Given the description of an element on the screen output the (x, y) to click on. 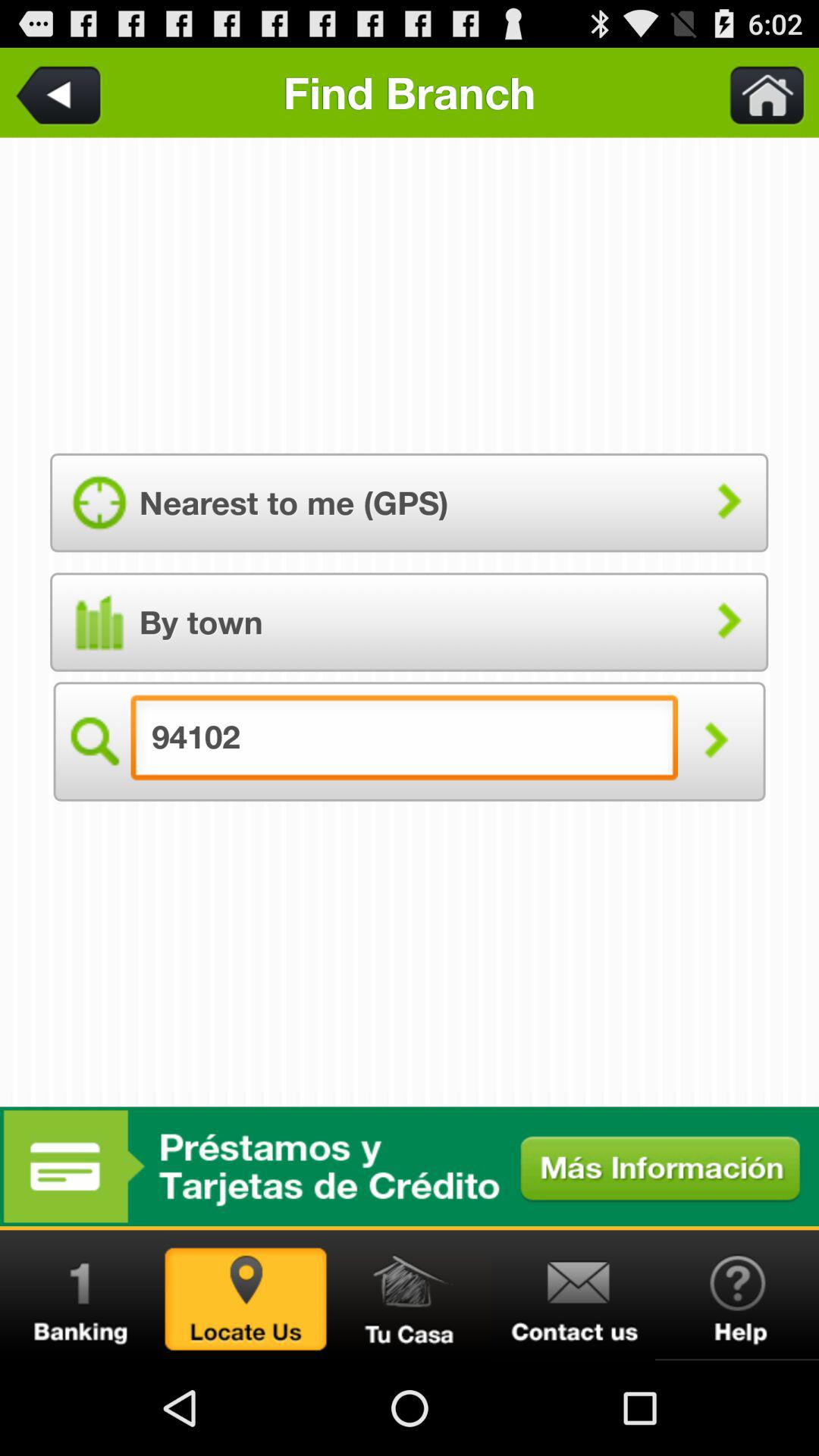
entersearch keywords (757, 92)
